Given the description of an element on the screen output the (x, y) to click on. 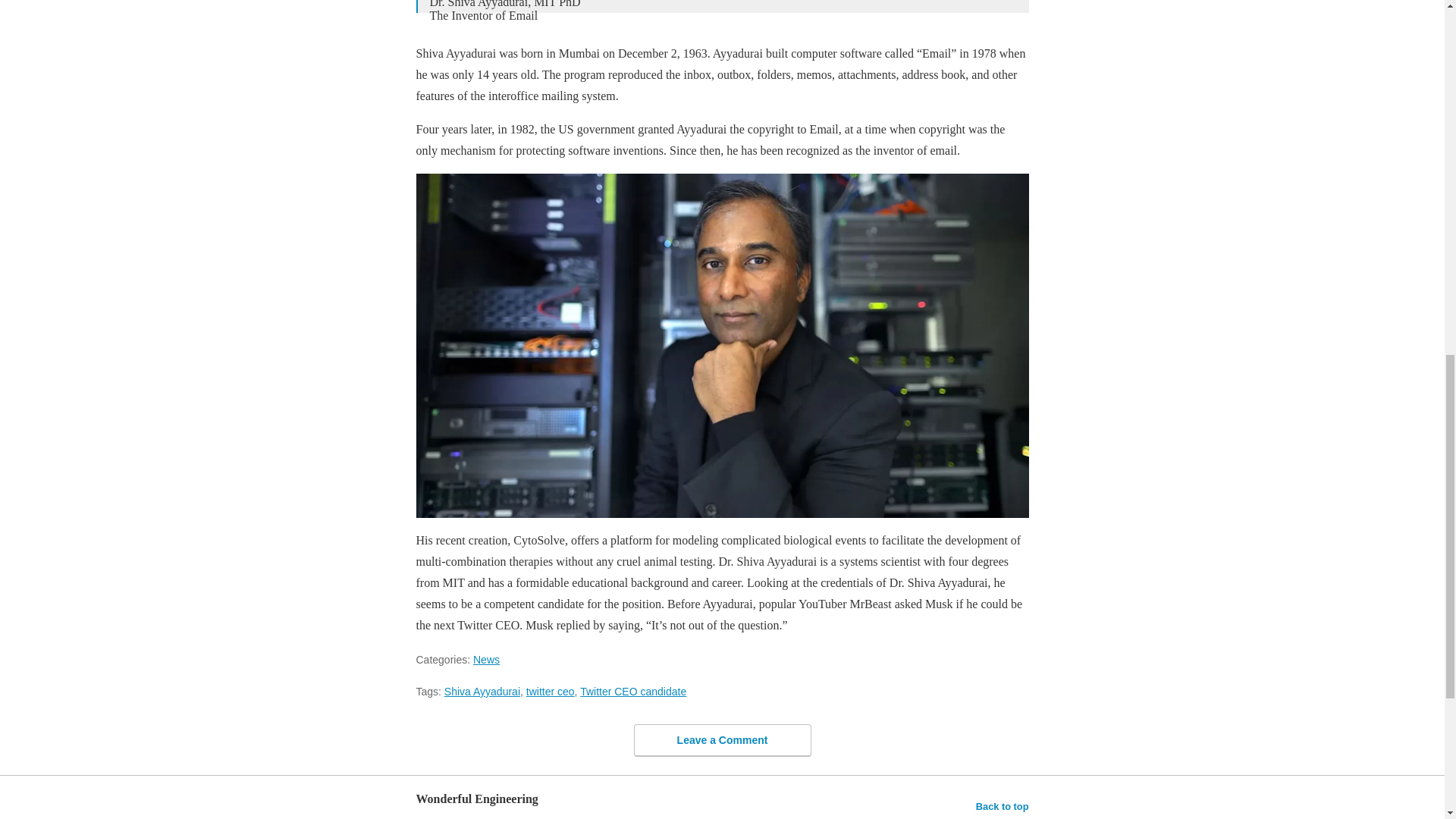
Back to top (1002, 806)
Twitter (720, 15)
twitter ceo (550, 691)
Leave a Comment (721, 739)
News (486, 659)
Twitter CEO candidate (632, 691)
Shiva Ayyadurai (481, 691)
